Given the description of an element on the screen output the (x, y) to click on. 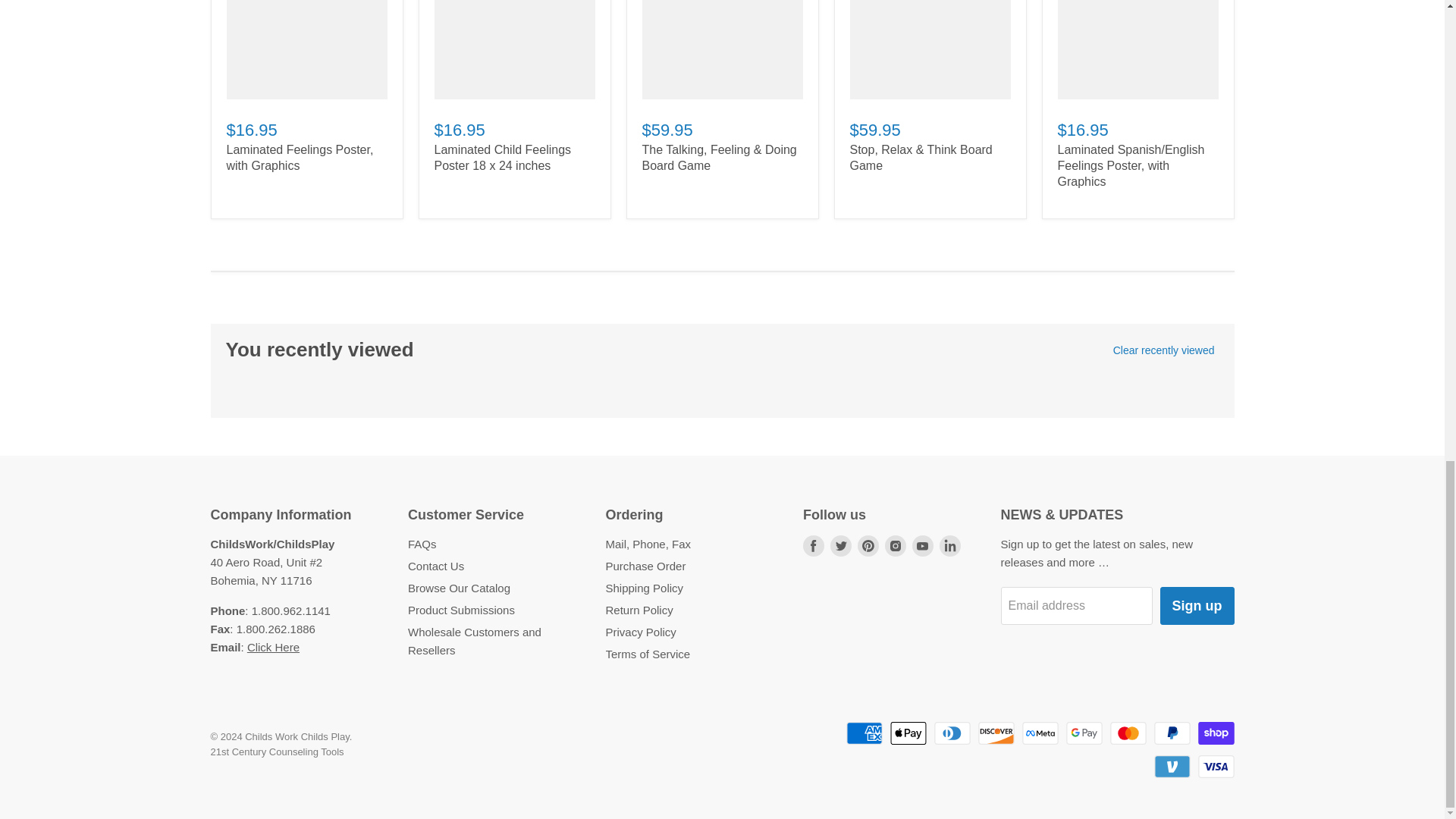
Contact Us (273, 646)
American Express (863, 732)
Twitter (840, 545)
LinkedIn (949, 545)
Youtube (922, 545)
Apple Pay (907, 732)
Pinterest (868, 545)
Facebook (813, 545)
Instagram (895, 545)
